Given the description of an element on the screen output the (x, y) to click on. 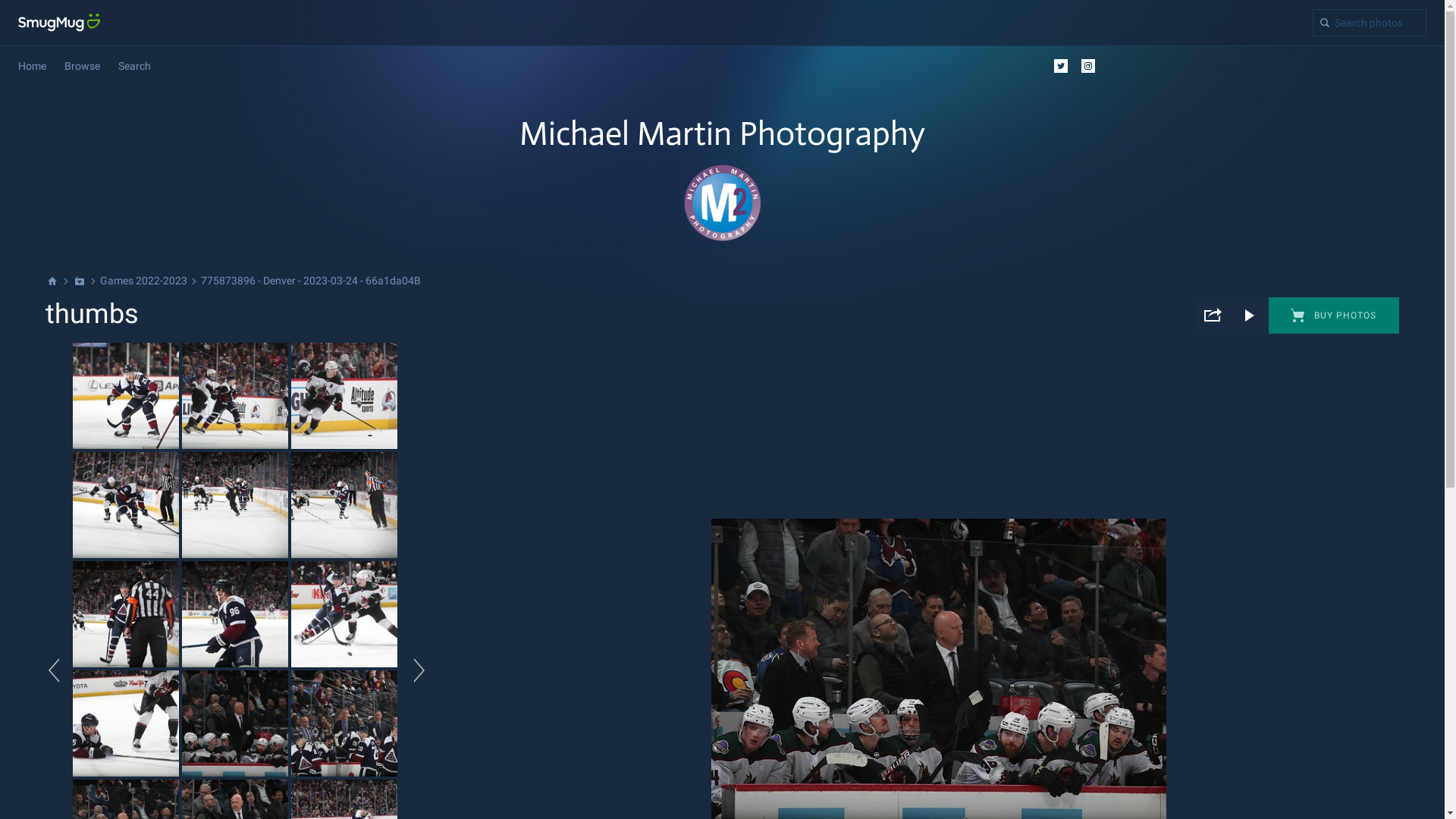
BUY PHOTOS Element type: text (1333, 315)
Browse Element type: text (82, 65)
Search "thumbs" for photos Element type: hover (1369, 22)
Share Gallery Element type: hover (1212, 315)
Games 2022-2023 Element type: text (143, 280)
SmugMug Element type: hover (59, 22)
775873896 - Denver - 2023-03-24 - 66a1da04B Element type: text (310, 280)
Search Element type: text (134, 65)
Home Element type: text (32, 65)
Michael Martin Photography Element type: text (722, 140)
Slideshow Element type: hover (1249, 315)
